Given the description of an element on the screen output the (x, y) to click on. 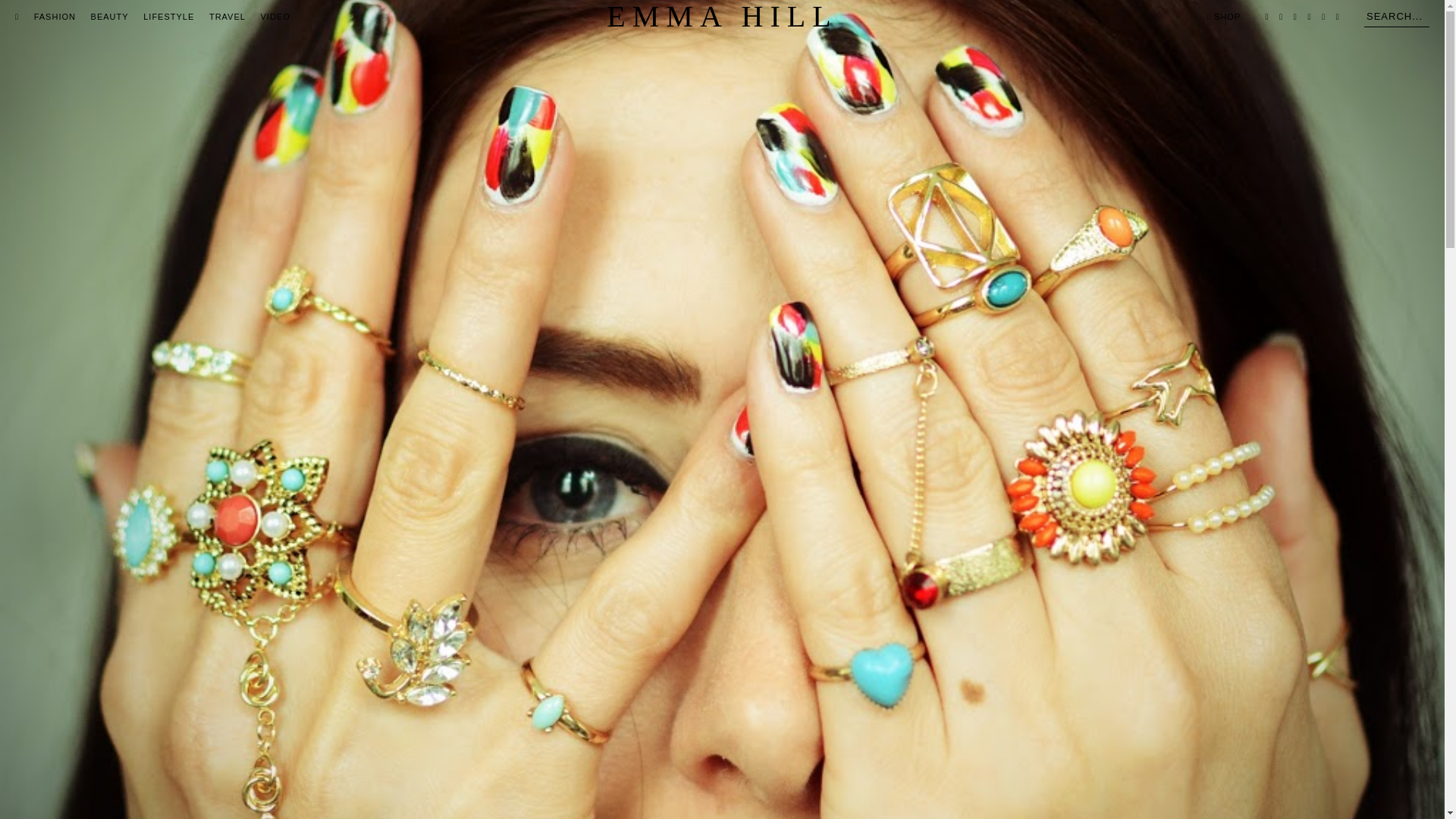
BEAUTY (109, 16)
FASHION (54, 16)
 SHOP (1223, 16)
VIDEO (274, 16)
EMMA HILL (722, 16)
LIFESTYLE (167, 16)
TRAVEL (227, 16)
